Given the description of an element on the screen output the (x, y) to click on. 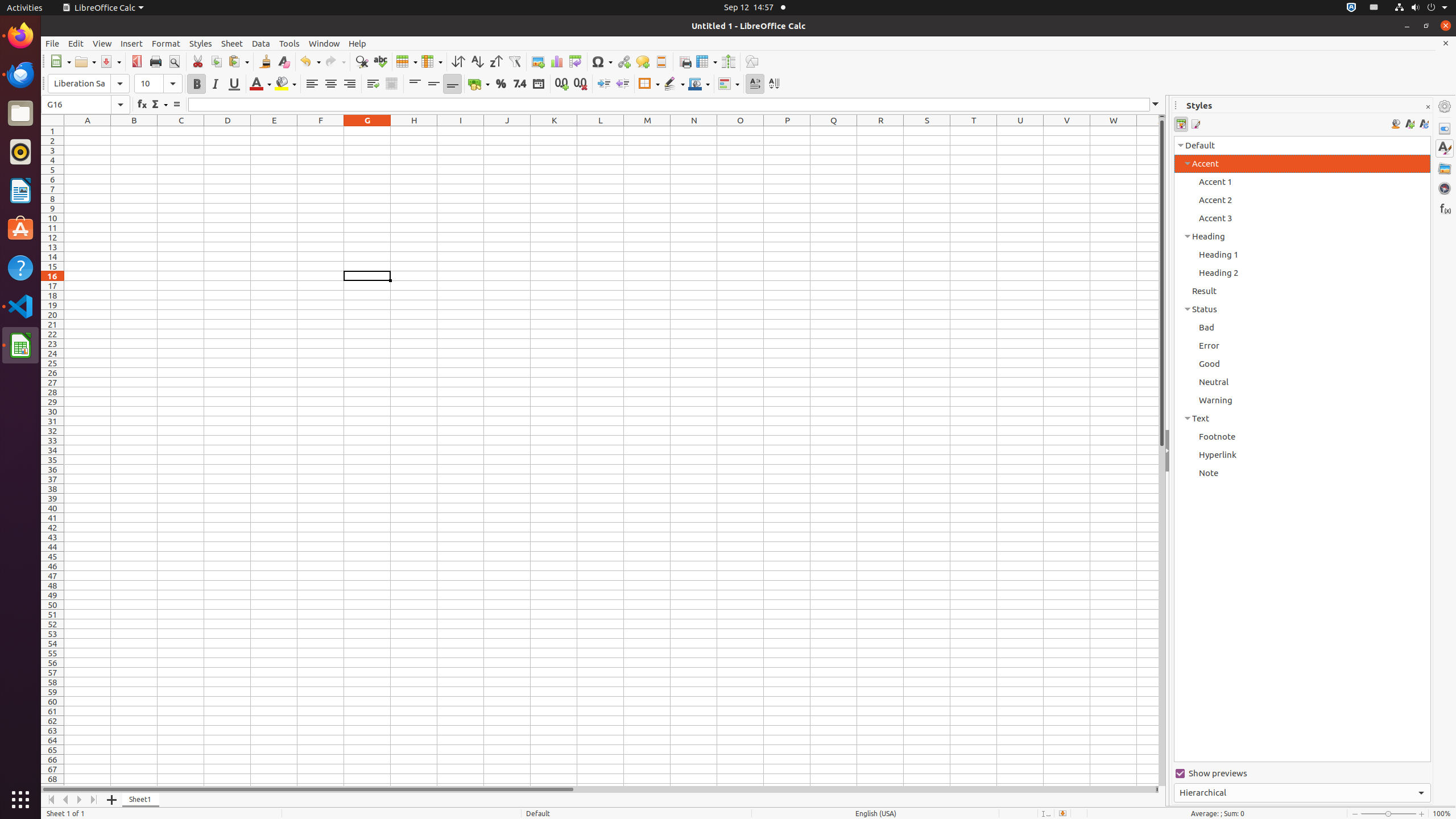
Q1 Element type: table-cell (833, 130)
Window Element type: menu (324, 43)
Styles Element type: menu (200, 43)
File Element type: menu (51, 43)
Column Element type: push-button (431, 61)
